Given the description of an element on the screen output the (x, y) to click on. 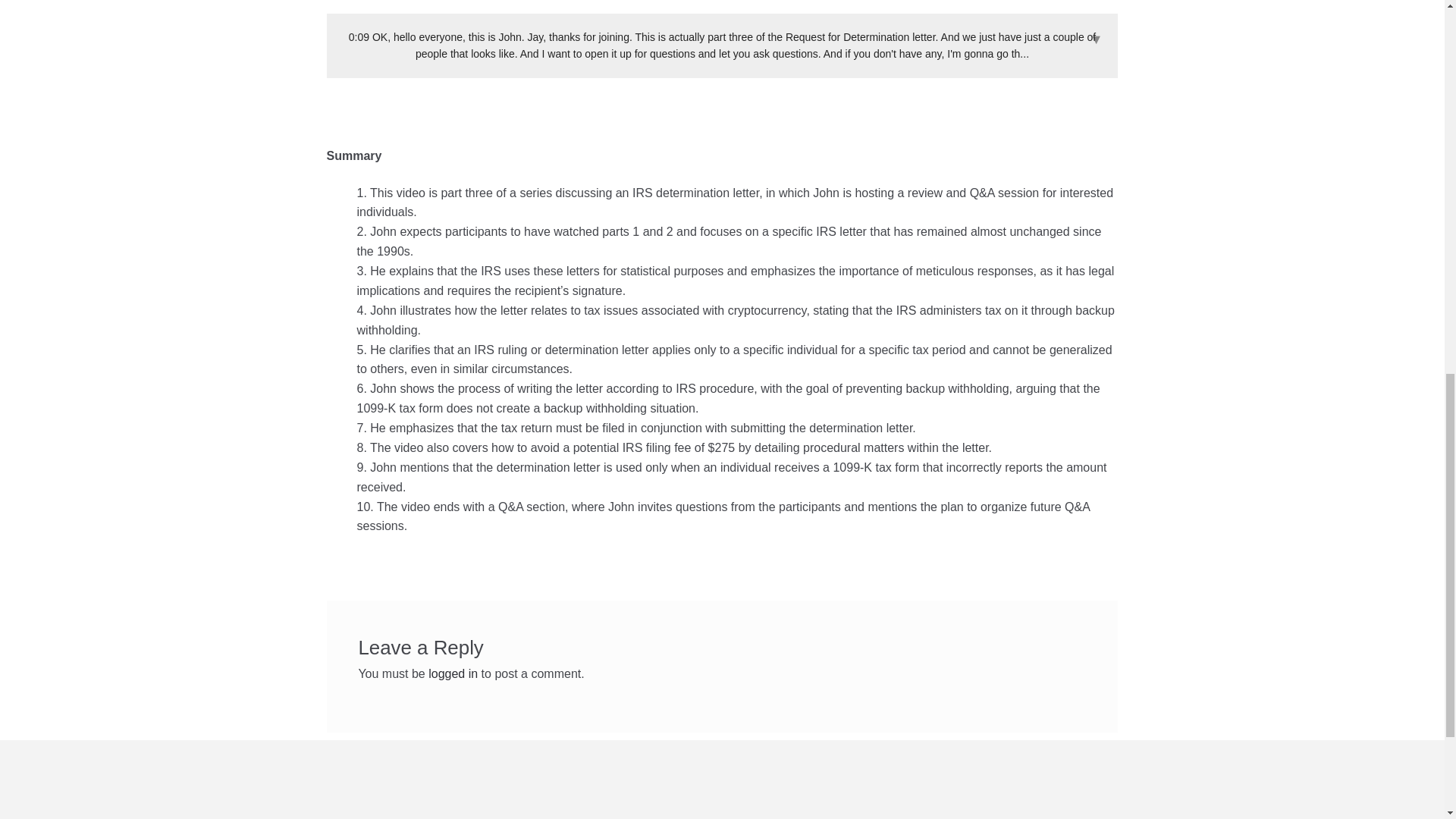
vimeo-player (722, 7)
